Given the description of an element on the screen output the (x, y) to click on. 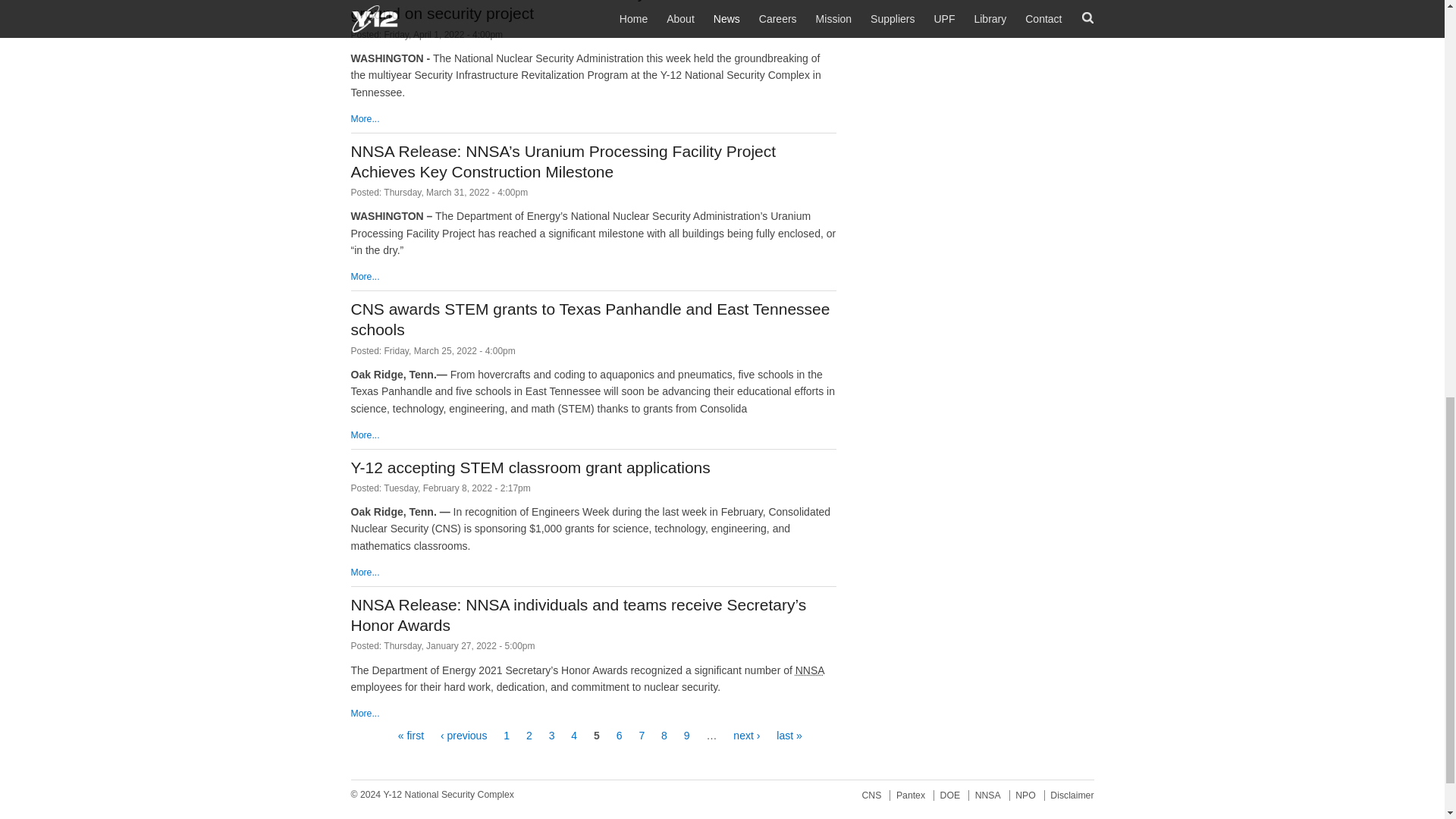
Go to first page (410, 735)
More... (364, 713)
More... (364, 276)
More... (364, 118)
More... (364, 572)
More... (364, 434)
Y-12 accepting STEM classroom grant applications (530, 466)
Go to previous page (463, 735)
National Nuclear Security Administration (809, 670)
